Given the description of an element on the screen output the (x, y) to click on. 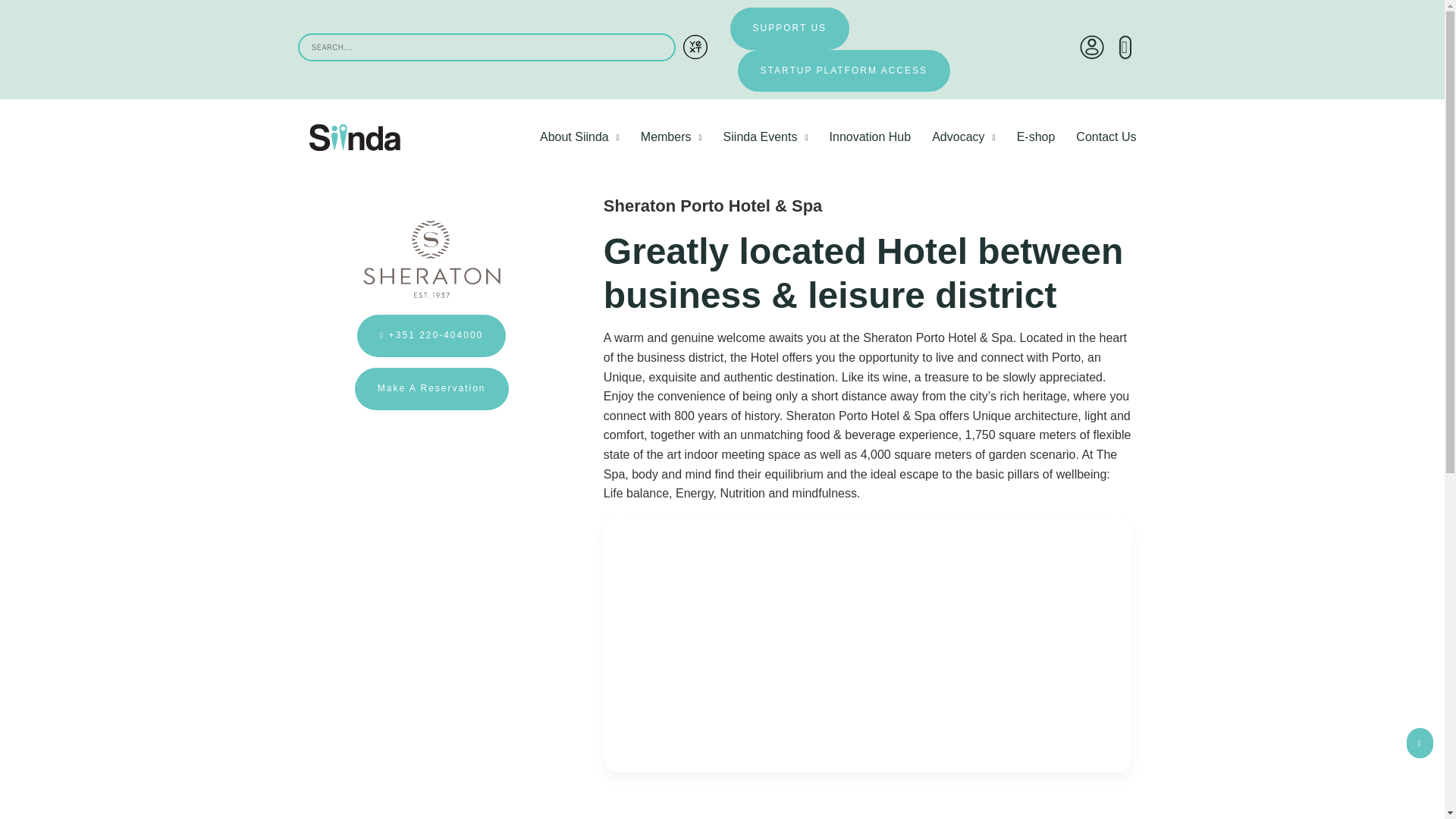
About Siinda (579, 136)
Siinda-logo-sharp (354, 137)
SUBMIT (694, 47)
Siinda Events (765, 136)
Advocacy (963, 136)
E-shop (1035, 136)
Innovation Hub (869, 136)
Members (671, 136)
SUPPORT US (788, 28)
Contact Us (1106, 136)
STARTUP PLATFORM ACCESS (842, 70)
